Given the description of an element on the screen output the (x, y) to click on. 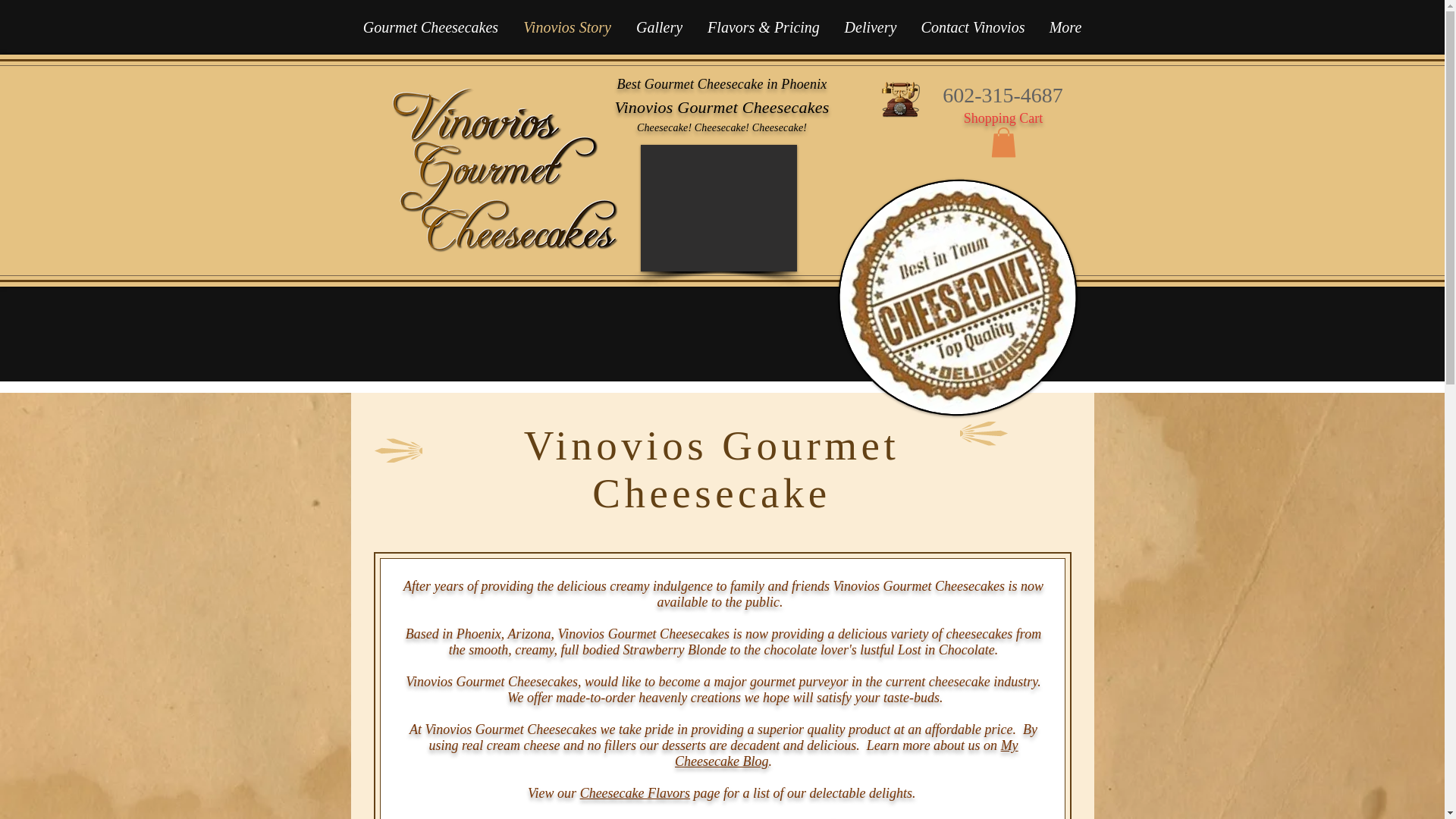
Gallery (658, 27)
Gourmet Cheesecakes (430, 27)
Vinovios Story (567, 27)
Click to visit vinovios press page (923, 262)
Delivery (870, 27)
Twitter Tweet (899, 142)
Cheesecake Flavors (634, 792)
Contact Vinovios (972, 27)
My Cheesecake Blog (846, 753)
Contact Vinovios Gourmet Cheesecakes (899, 98)
